Given the description of an element on the screen output the (x, y) to click on. 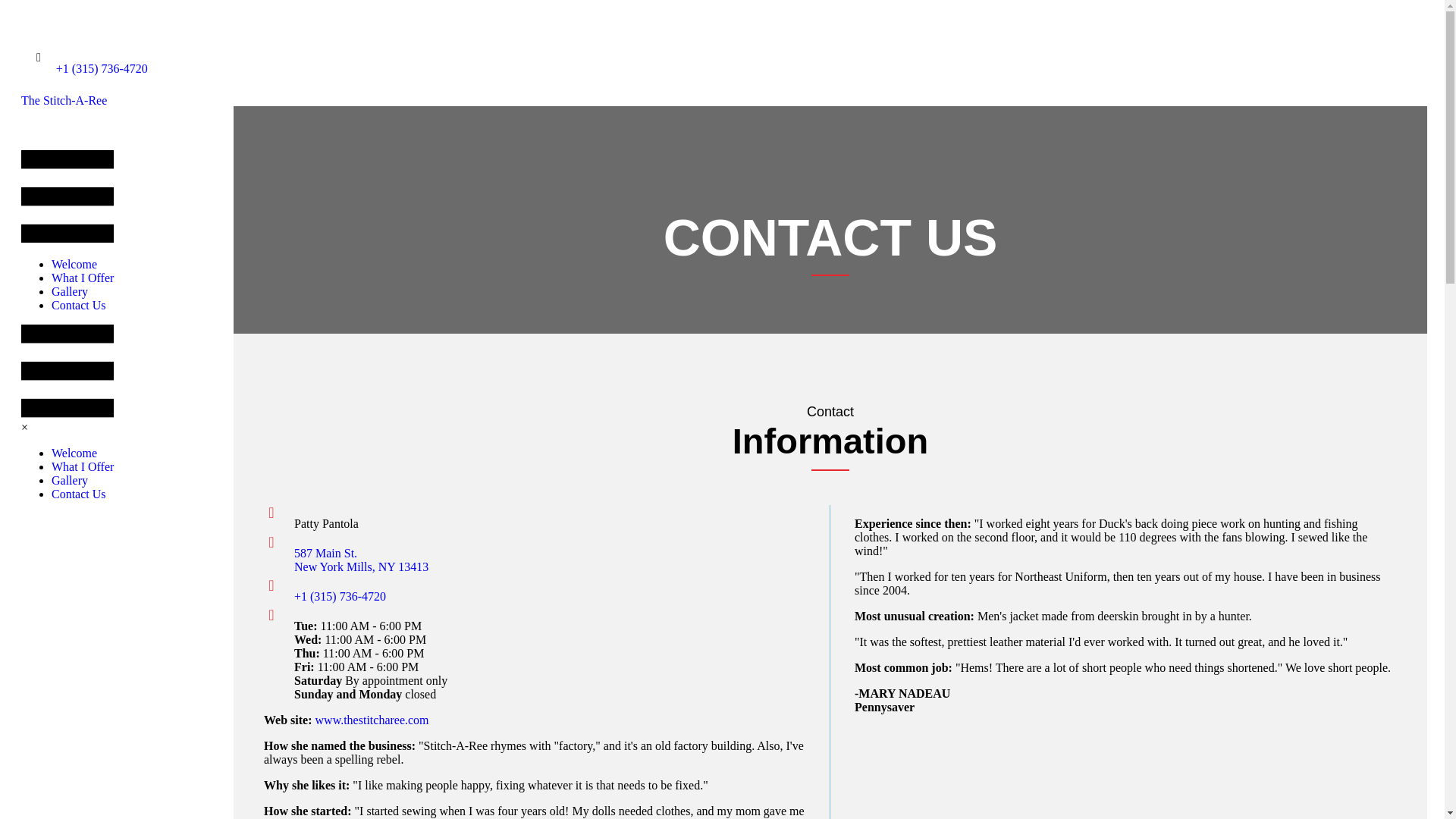
Welcome (361, 560)
Gallery (73, 264)
What I Offer (68, 291)
The Stitch-A-Ree (81, 466)
www.thestitcharee.com (67, 100)
Contact Us (372, 719)
Welcome (78, 305)
What I Offer (73, 452)
Contact Us (81, 277)
Skip to content (78, 493)
Gallery (42, 11)
